Given the description of an element on the screen output the (x, y) to click on. 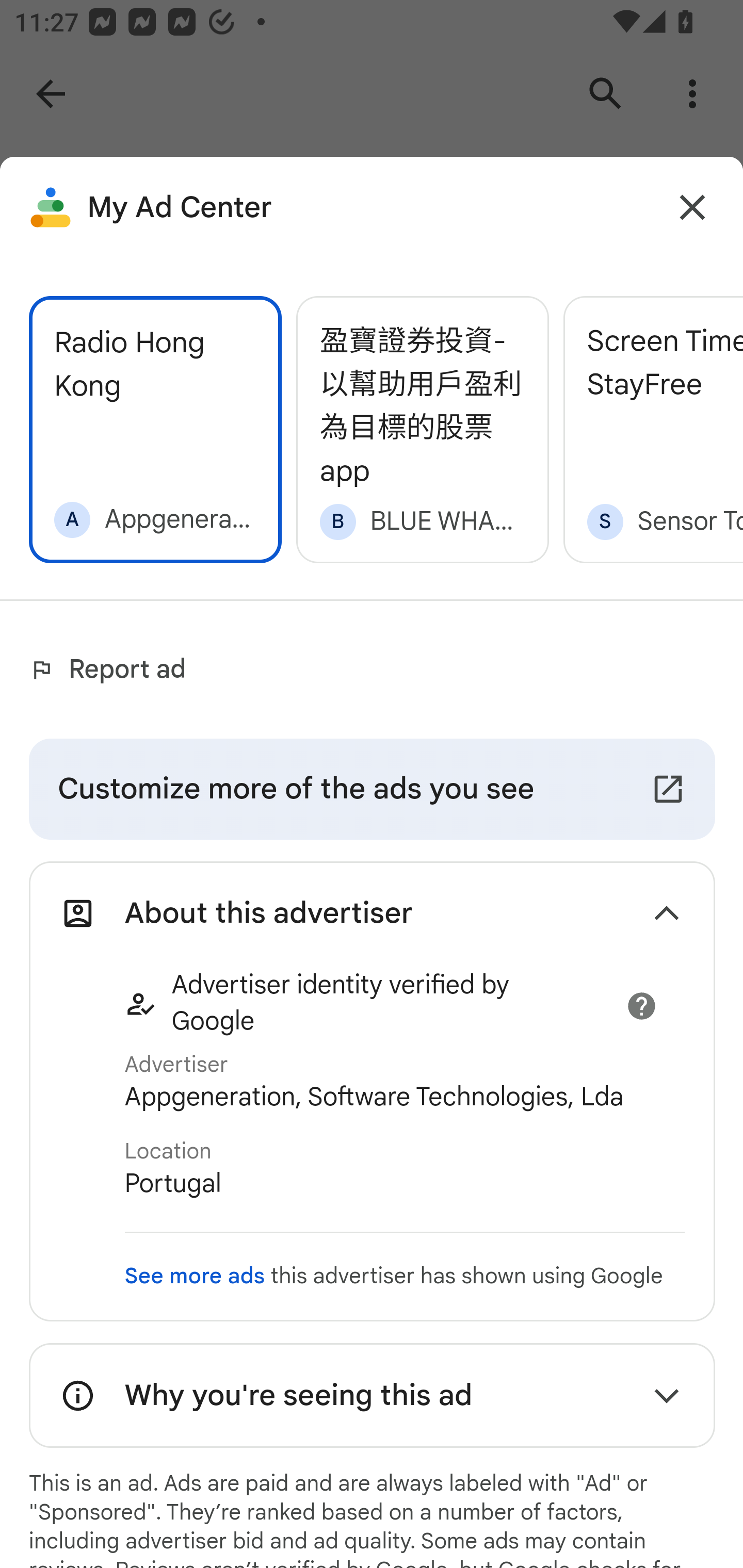
Close (692, 207)
Report ad (opens in new tab) Report ad (111, 669)
About this advertiser (371, 913)
See more ads (opens in new tab) See more ads (193, 1276)
Why you're seeing this ad (371, 1395)
